Given the description of an element on the screen output the (x, y) to click on. 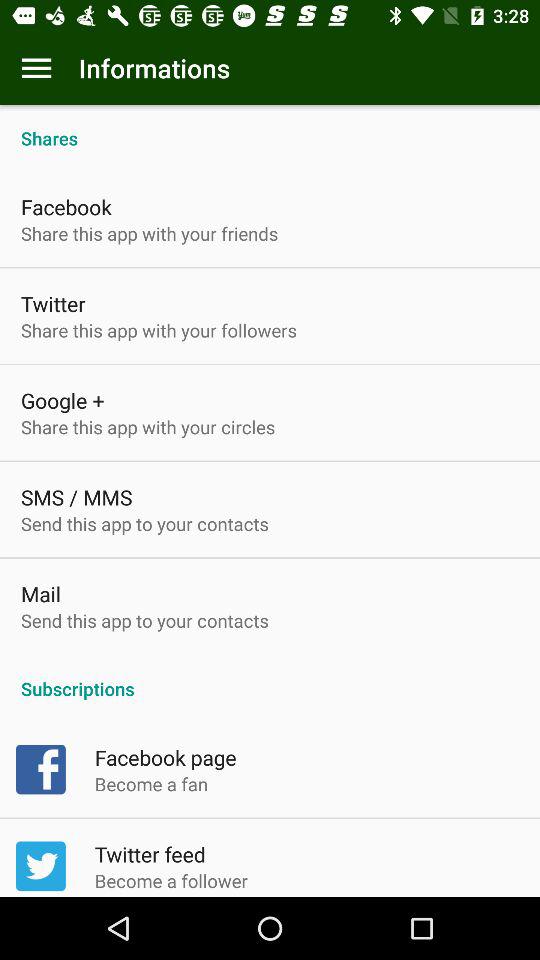
select the item next to informations app (36, 68)
